Given the description of an element on the screen output the (x, y) to click on. 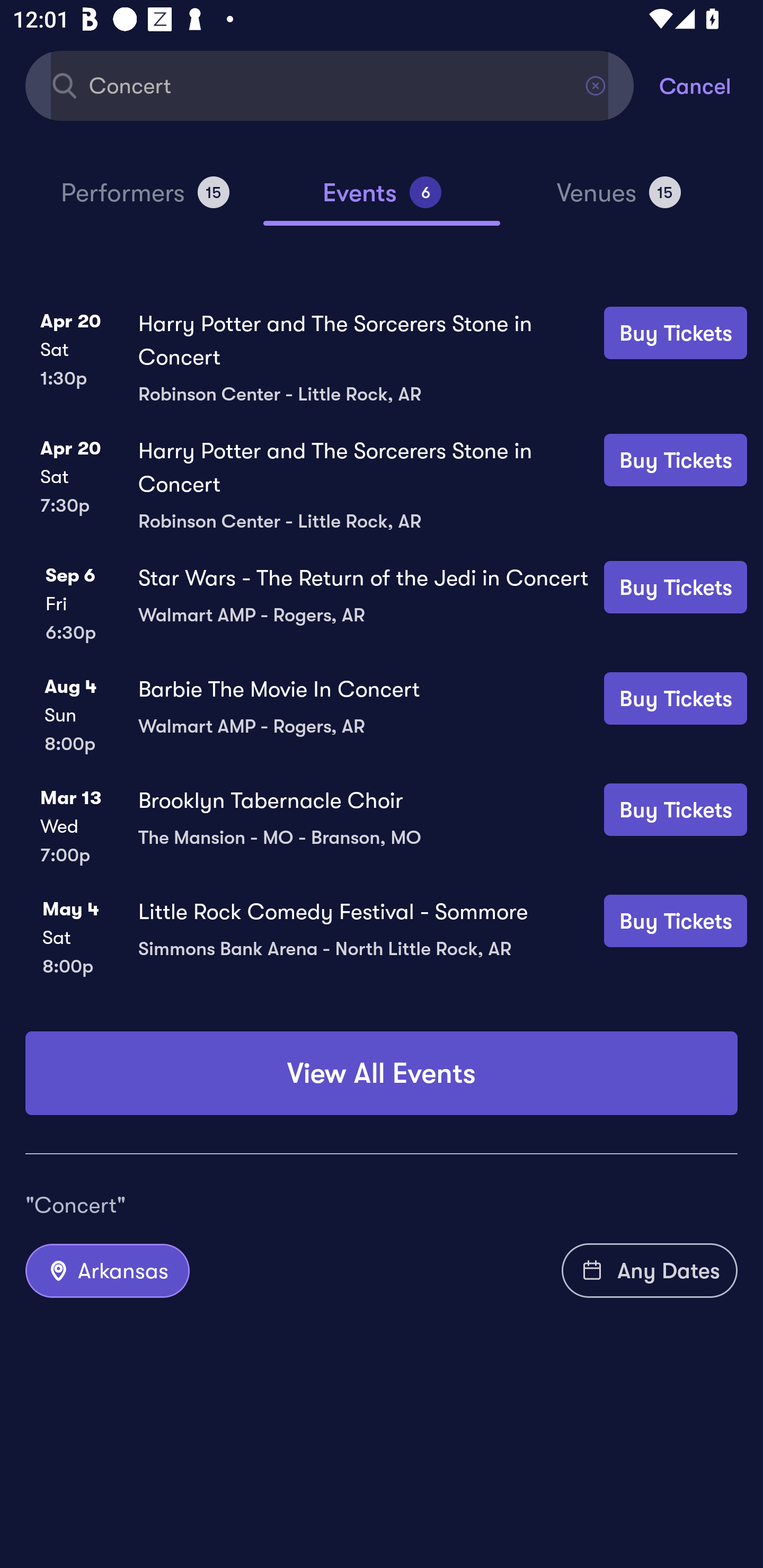
Concert Find (329, 85)
Concert Find (329, 85)
Cancel (711, 85)
Performers 15 (144, 200)
Events 6 (381, 200)
Venues 15 (618, 200)
View All Events (381, 1072)
Any Dates (649, 1270)
Arkansas (107, 1270)
